Given the description of an element on the screen output the (x, y) to click on. 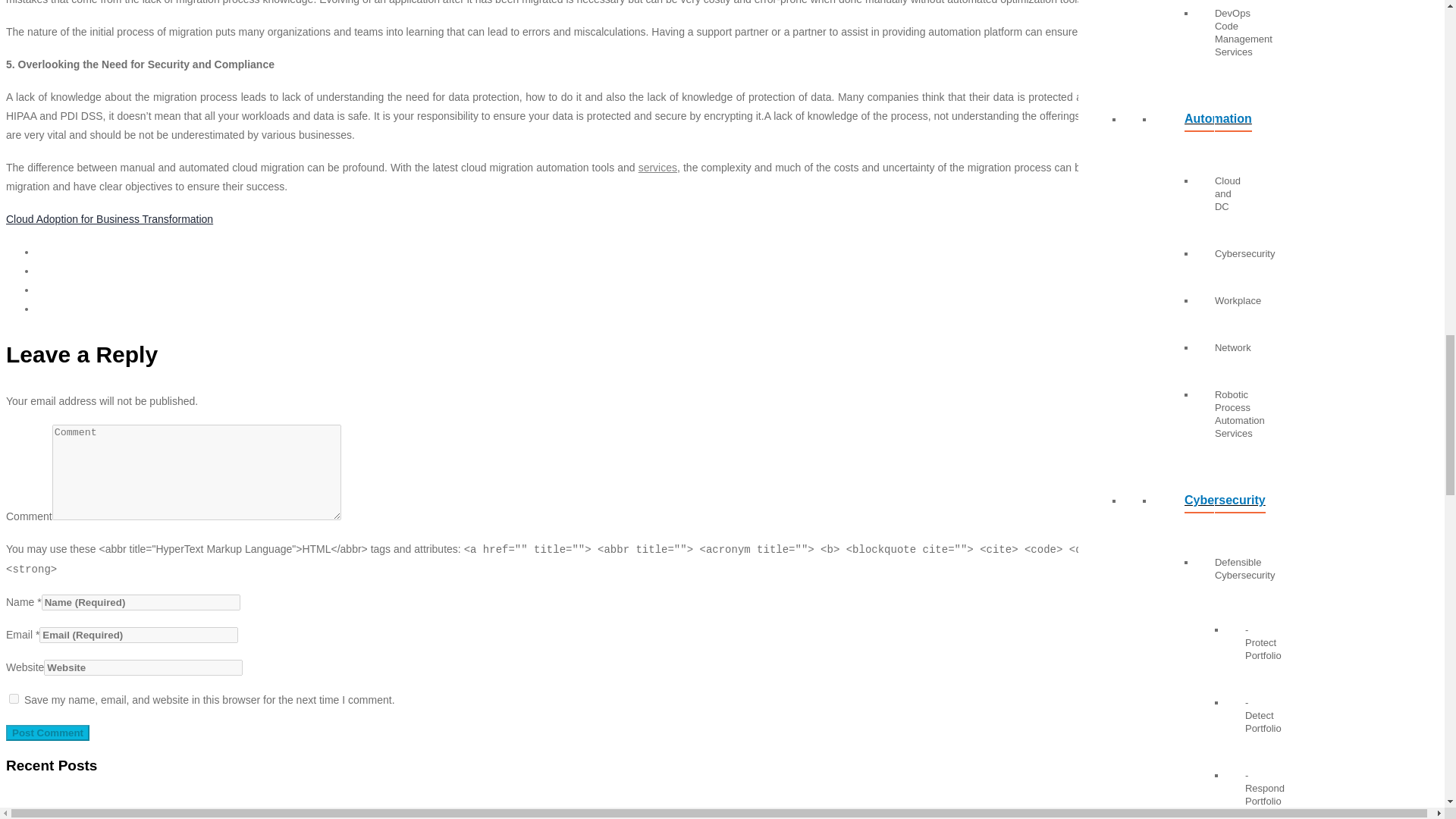
yes (13, 698)
Automation (1185, 124)
Cybersecurity (1185, 506)
Post Comment (46, 732)
